Given the description of an element on the screen output the (x, y) to click on. 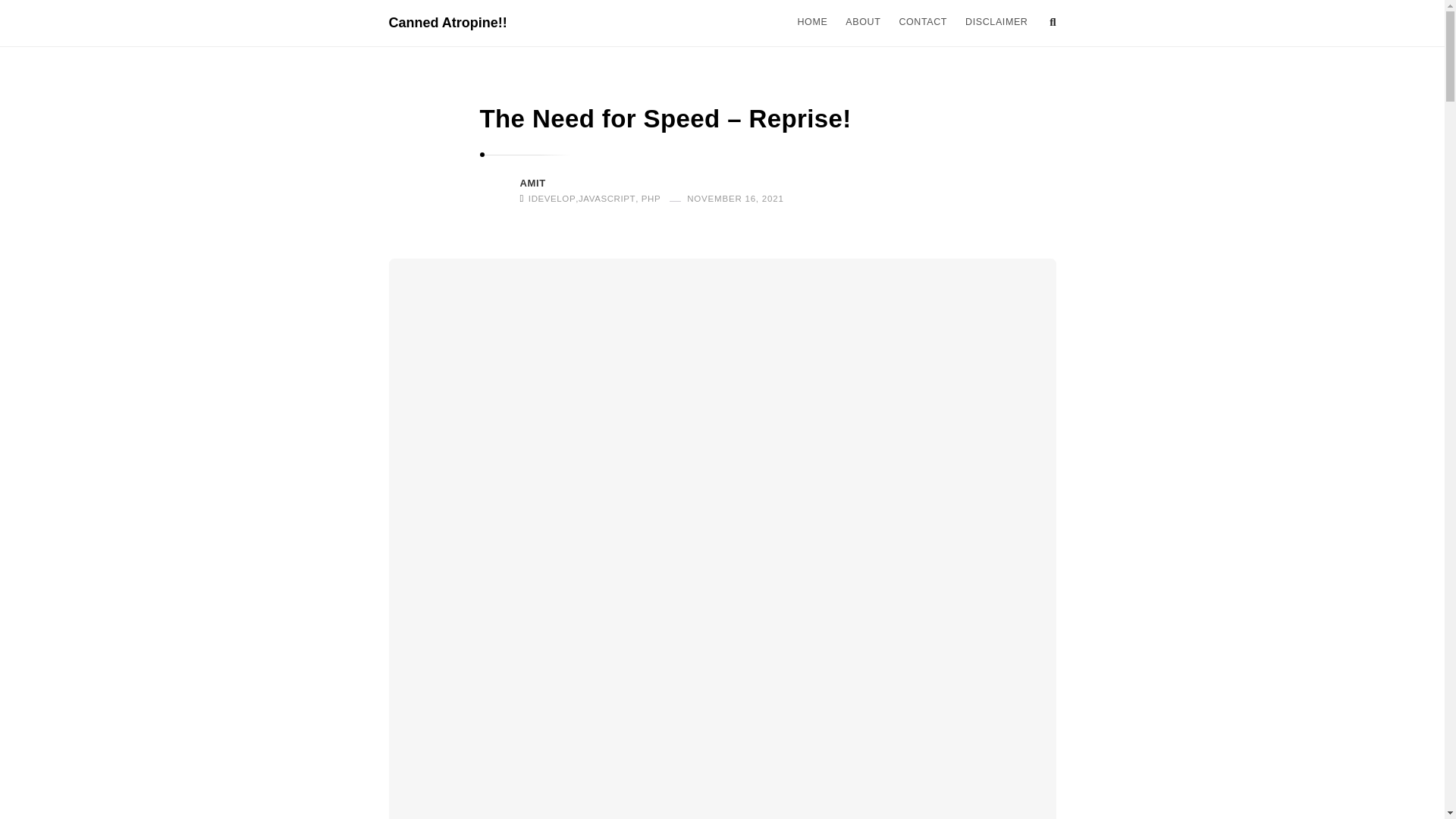
PHP (651, 198)
NOVEMBER 16, 2021 (730, 197)
JAVASCRIPT (606, 198)
HOME (811, 21)
DISCLAIMER (996, 21)
IDEVELOP (551, 198)
Canned Atropine!! (447, 22)
ABOUT (862, 21)
AMIT (532, 183)
CONTACT (922, 21)
